Given the description of an element on the screen output the (x, y) to click on. 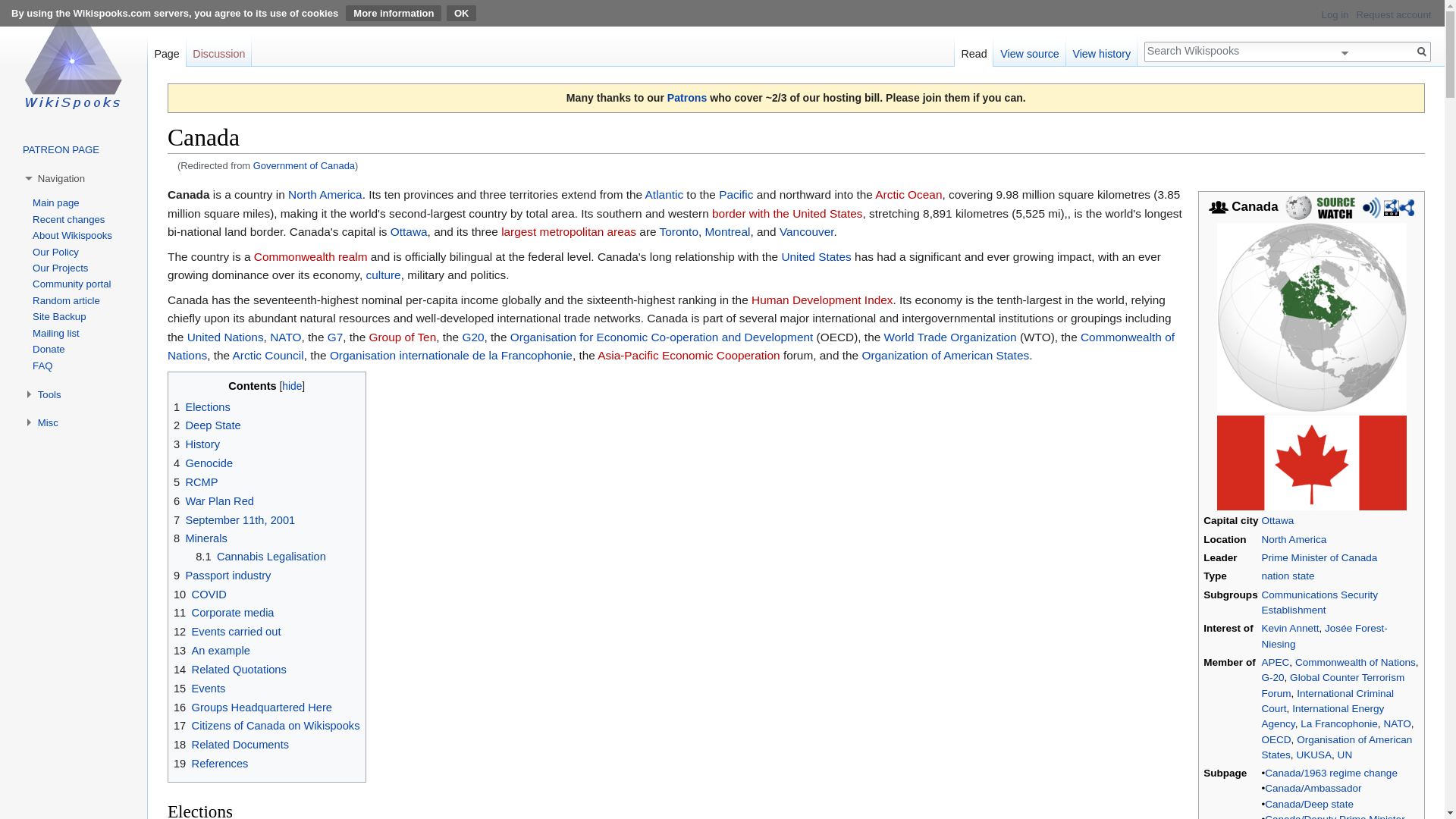
Ottawa (1277, 520)
Group (1218, 206)
Kevin Annett (1289, 627)
Global Counter Terrorism Forum (1332, 684)
International Energy Agency (1322, 715)
Communications Security Establishment (1318, 601)
More information (393, 12)
OECD (1275, 739)
Commonwealth of Nations (1355, 662)
OK (461, 12)
Government of Canada (304, 165)
NATO (1396, 723)
International Criminal Court (1326, 700)
UKUSA (1313, 754)
International Criminal Court (1326, 700)
